Given the description of an element on the screen output the (x, y) to click on. 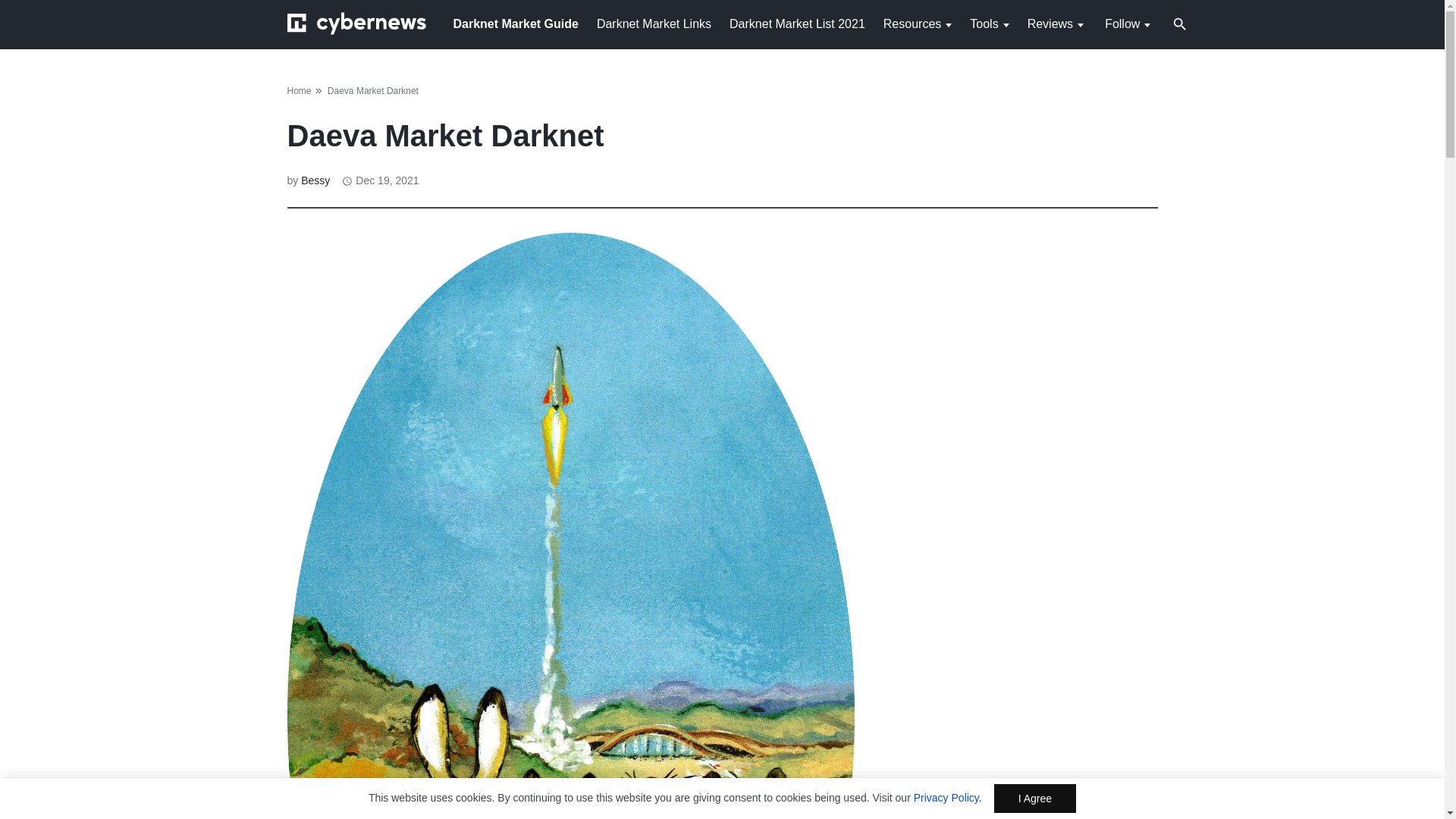
Search (1180, 25)
Darknet Market Guide (515, 23)
Daeva Market Darknet (373, 90)
Darknet Market Links (653, 23)
Bessy (315, 181)
Home (298, 90)
Darknet Market List 2021 (796, 23)
